Given the description of an element on the screen output the (x, y) to click on. 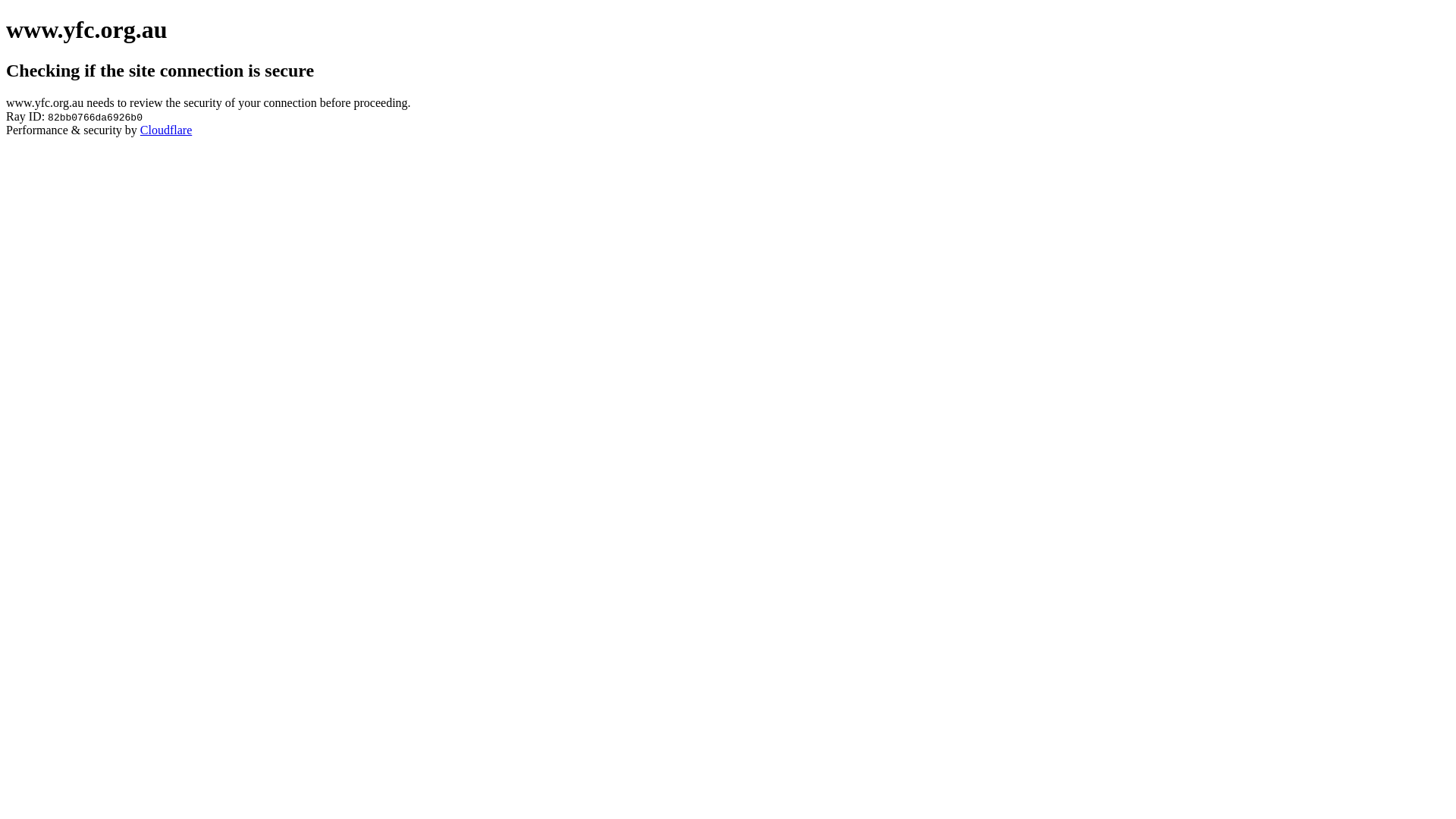
Cloudflare Element type: text (165, 129)
